Given the description of an element on the screen output the (x, y) to click on. 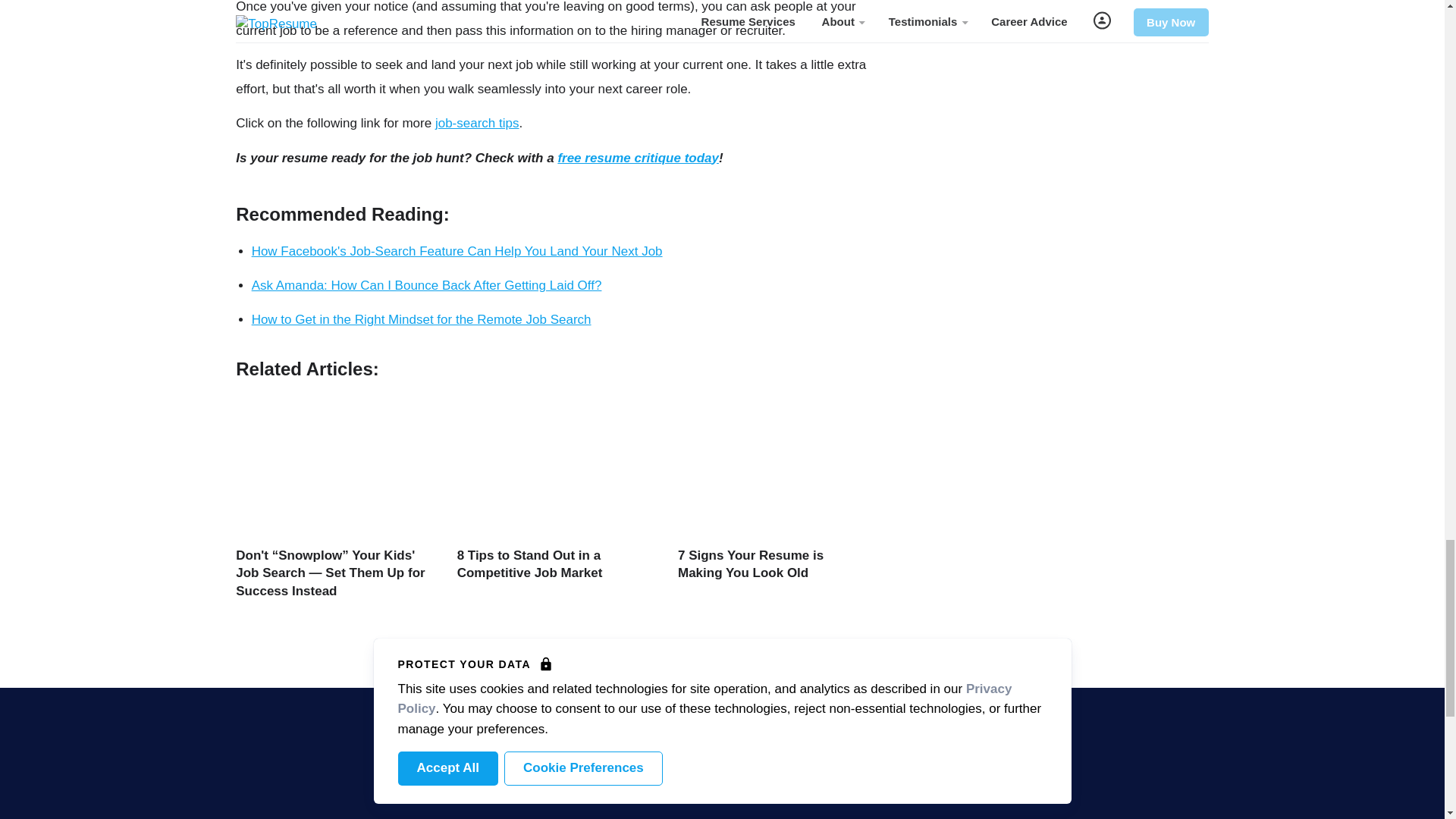
free resume critique today (638, 156)
8 Tips to Stand Out in a Competitive Job Market (529, 563)
Ask Amanda: How Can I Bounce Back After Getting Laid Off? (426, 285)
job-search tips (477, 123)
7 Signs Your Resume is Making You Look Old (751, 563)
How to Get in the Right Mindset for the Remote Job Search (421, 319)
